Given the description of an element on the screen output the (x, y) to click on. 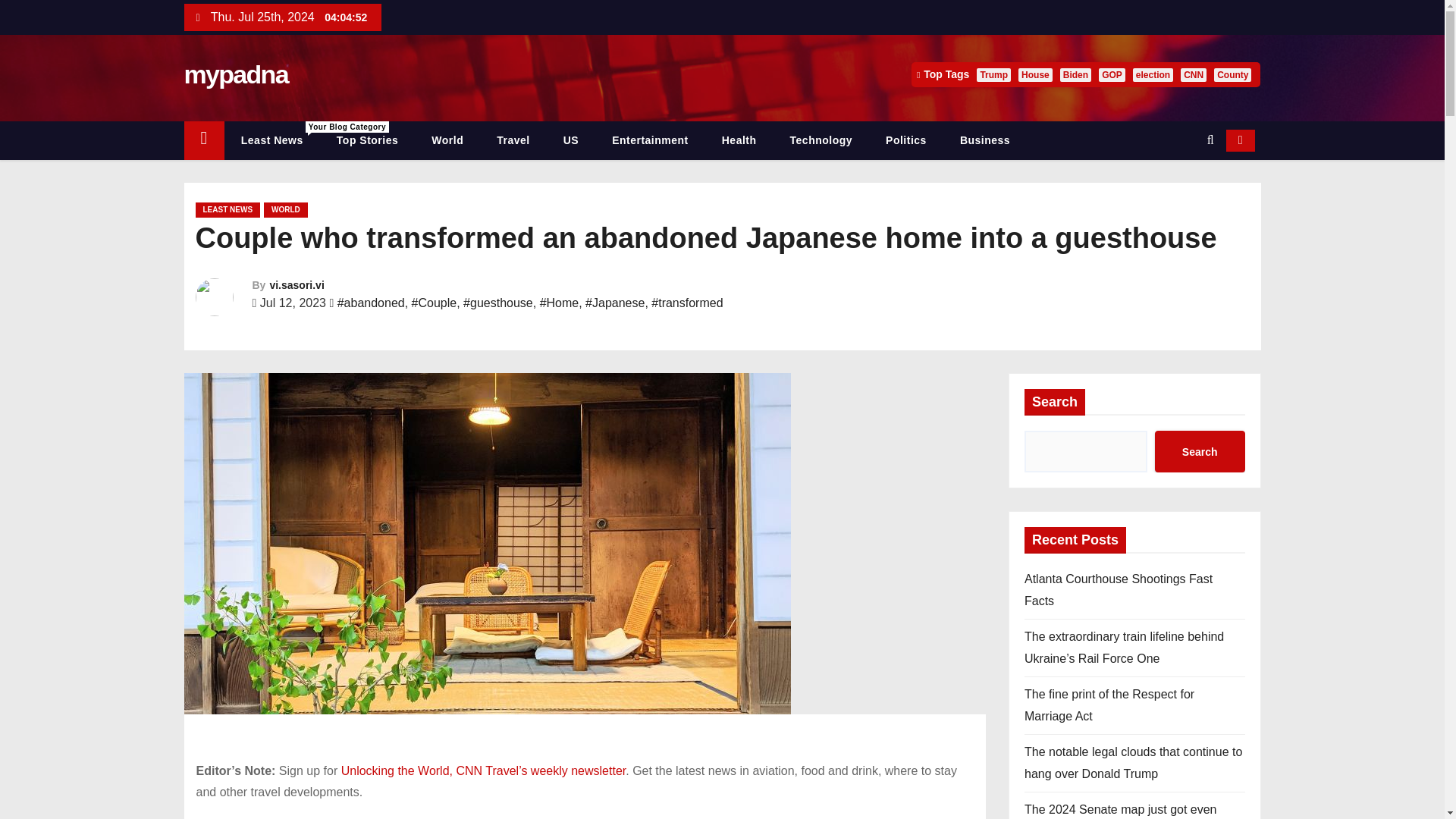
Business (984, 140)
CNN (1193, 74)
Travel (513, 140)
Health (738, 140)
GOP (1112, 74)
Politics (906, 140)
World (272, 140)
WORLD (447, 140)
Entertainment (285, 209)
Technology (649, 140)
Home (821, 140)
Biden (203, 140)
mypadna (1074, 74)
Business (234, 73)
